Given the description of an element on the screen output the (x, y) to click on. 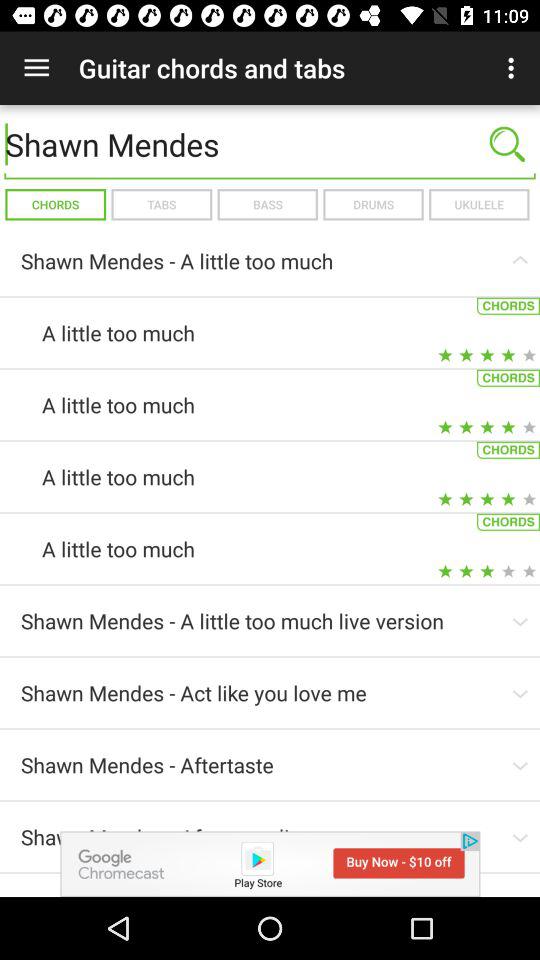
press the item above shawn mendes a icon (267, 204)
